Given the description of an element on the screen output the (x, y) to click on. 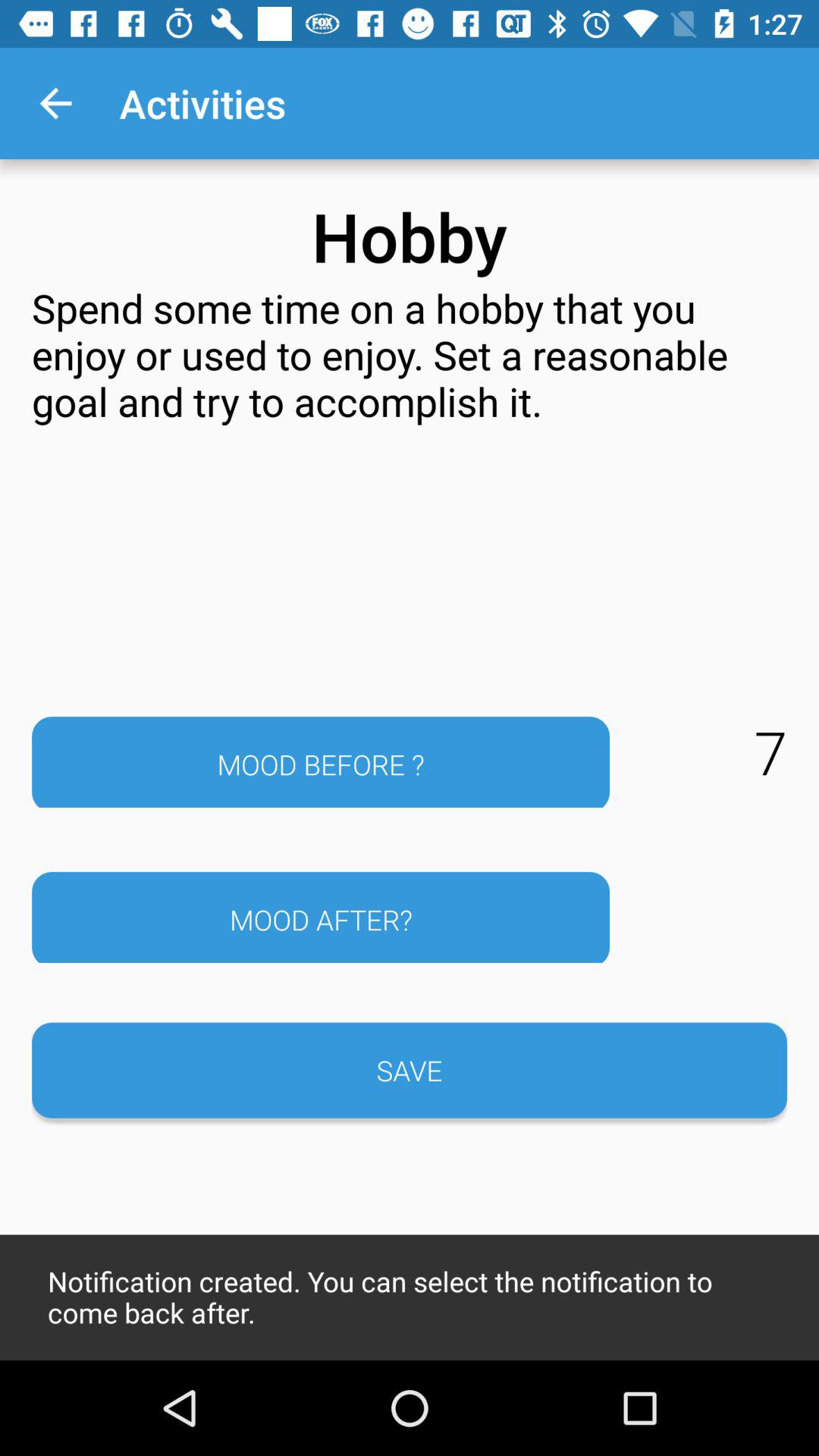
launch save icon (409, 1070)
